Given the description of an element on the screen output the (x, y) to click on. 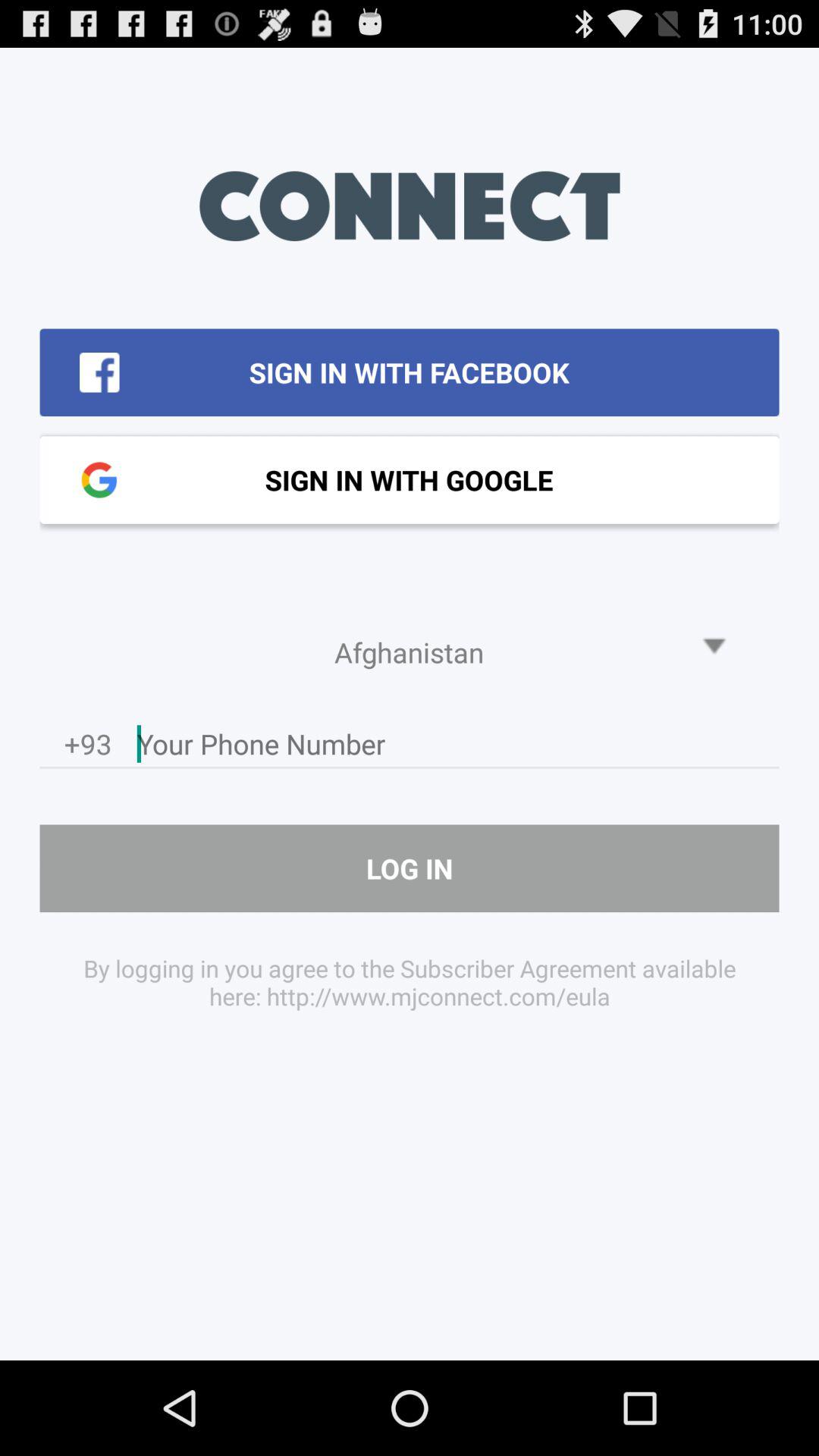
turn on icon next to the +93 (458, 747)
